Given the description of an element on the screen output the (x, y) to click on. 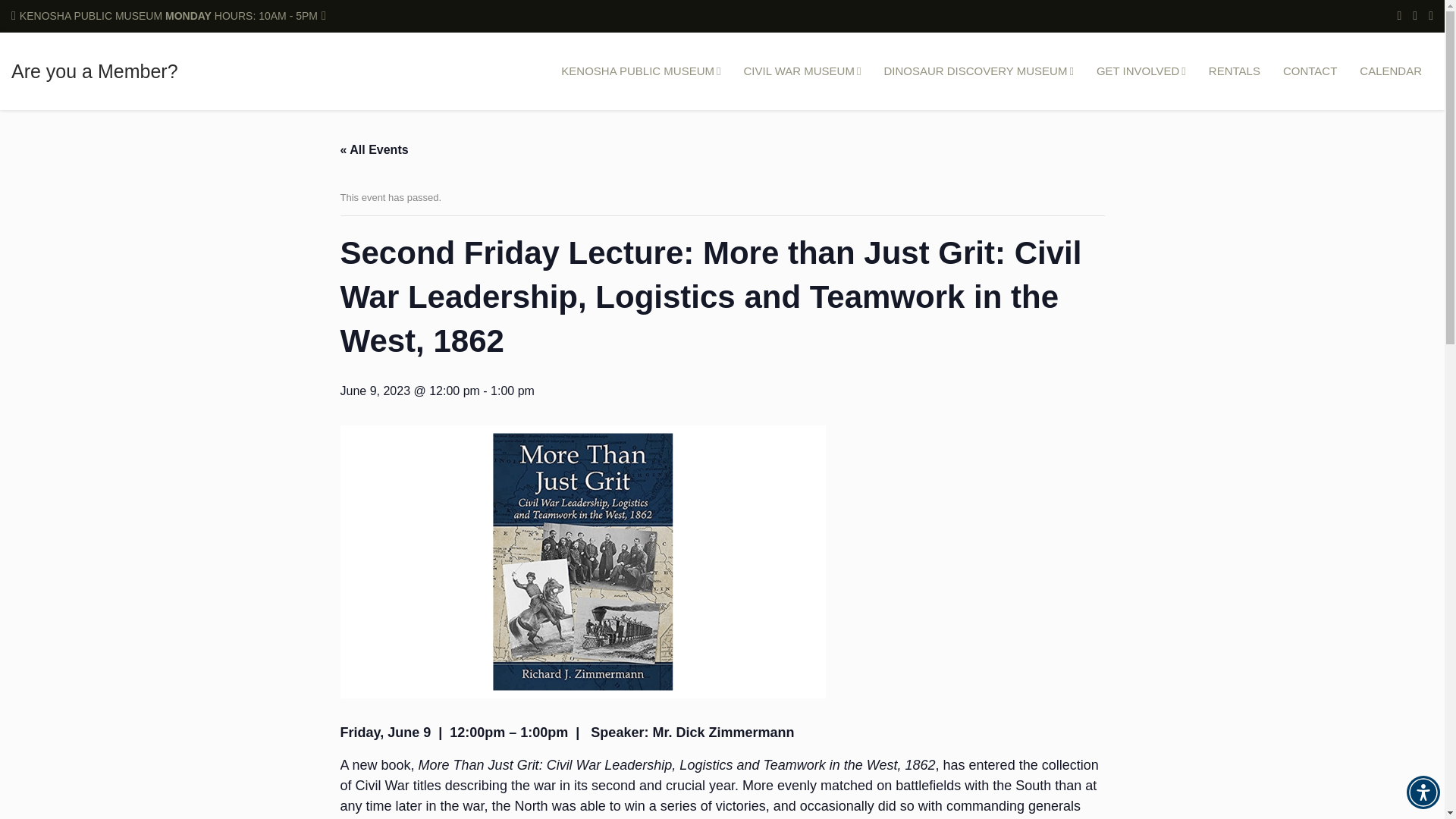
KENOSHA PUBLIC MUSEUM (641, 70)
CIVIL WAR MUSEUM (802, 70)
Are you a Member? (94, 70)
Accessibility Menu (1422, 792)
